Given the description of an element on the screen output the (x, y) to click on. 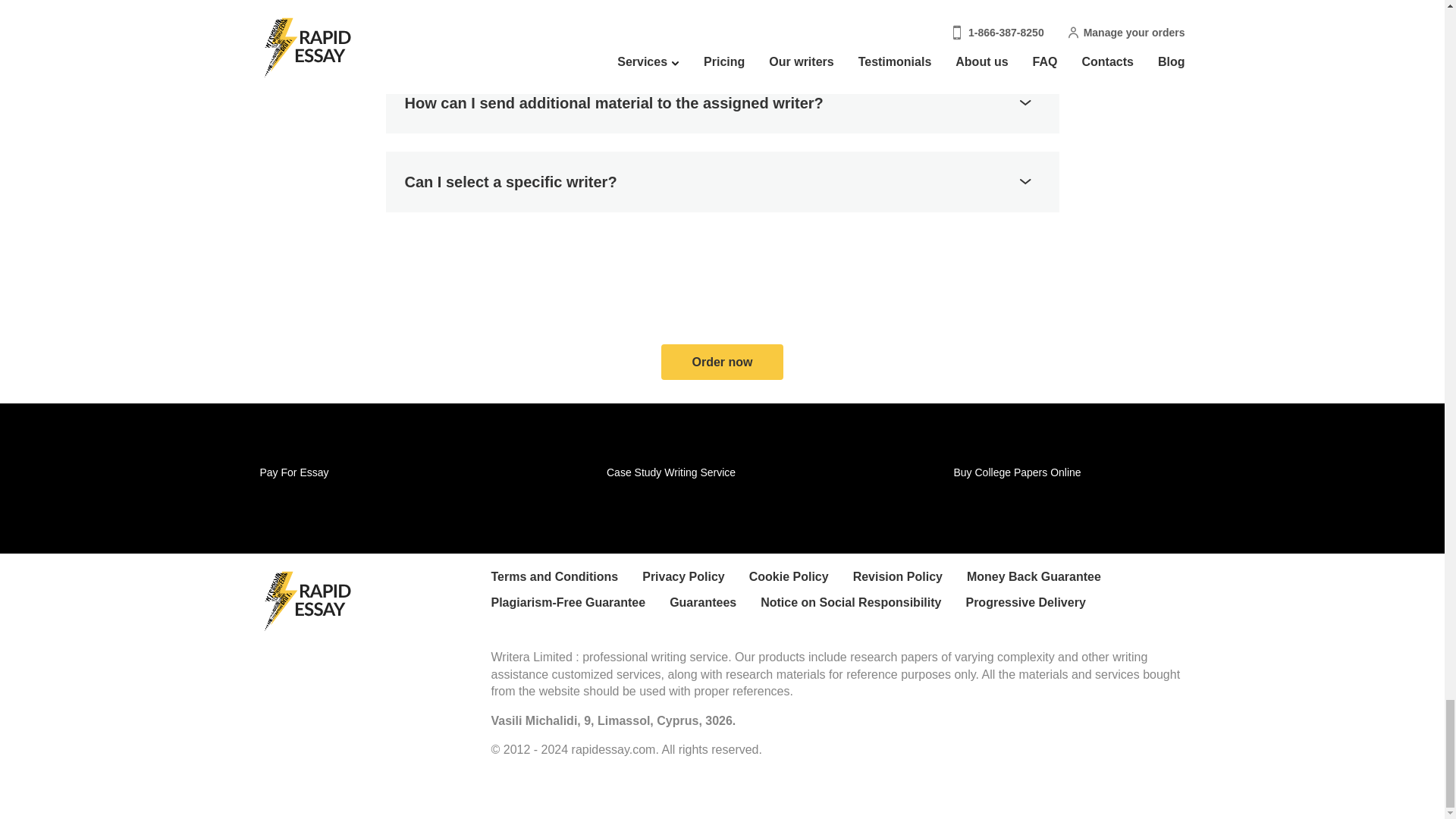
Pay For Essay (294, 472)
Buy College Papers Online (1017, 472)
Plagiarism-Free Guarantee (580, 606)
Revision Policy (909, 581)
Terms and Conditions (567, 581)
Case Study Writing Service (671, 472)
Order now (722, 361)
Privacy Policy (695, 581)
Cookie Policy (801, 581)
Guarantees (714, 606)
Notice on Social Responsibility (862, 606)
RapidEssay.com (304, 600)
Progressive Delivery (1037, 606)
Money Back Guarantee (1045, 581)
